Given the description of an element on the screen output the (x, y) to click on. 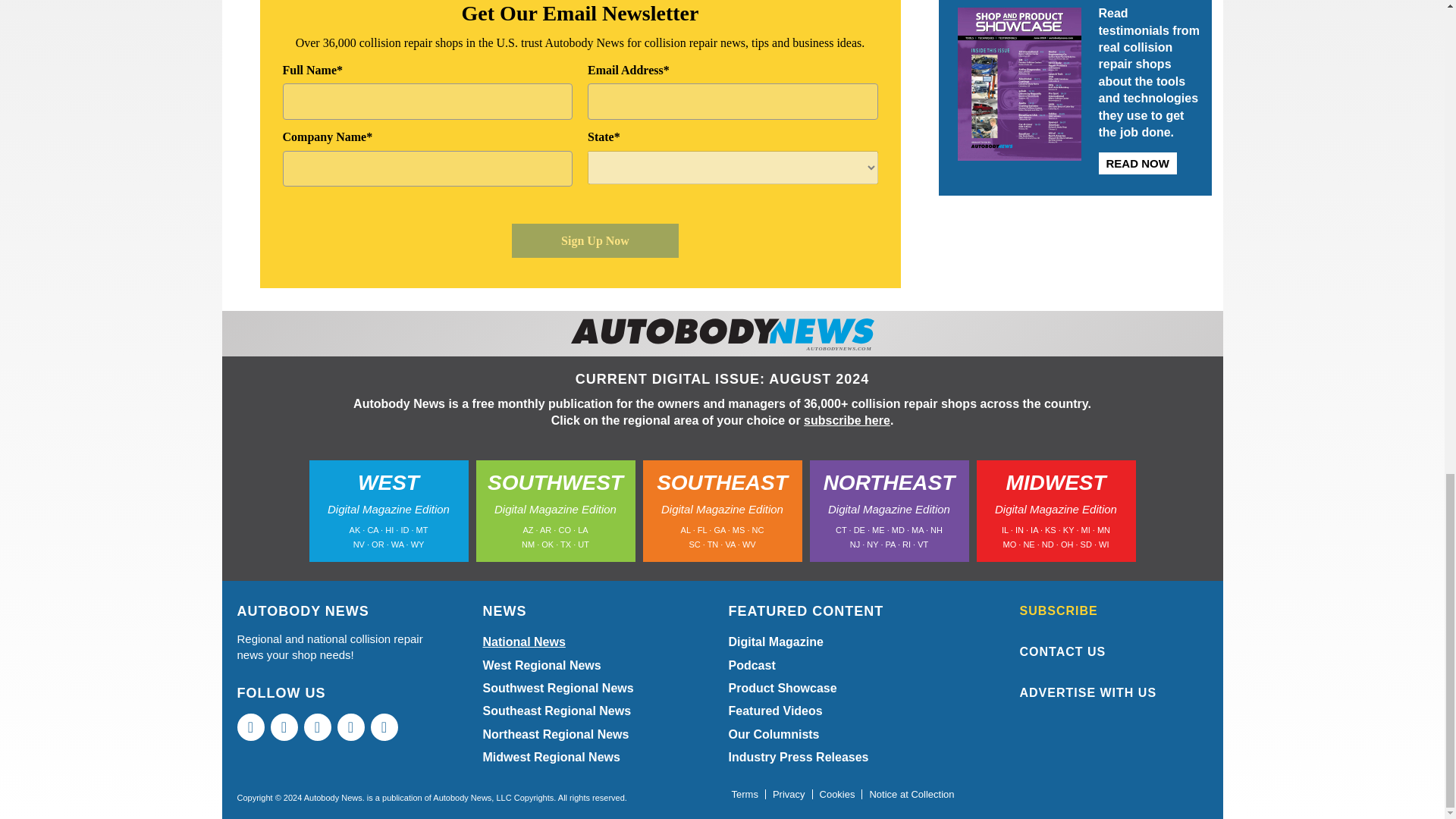
Auto Body News Notice at Collection Policy (911, 794)
Auto Body News Cookie Policy (837, 794)
Auto Body News Privacy Policy (789, 794)
